Given the description of an element on the screen output the (x, y) to click on. 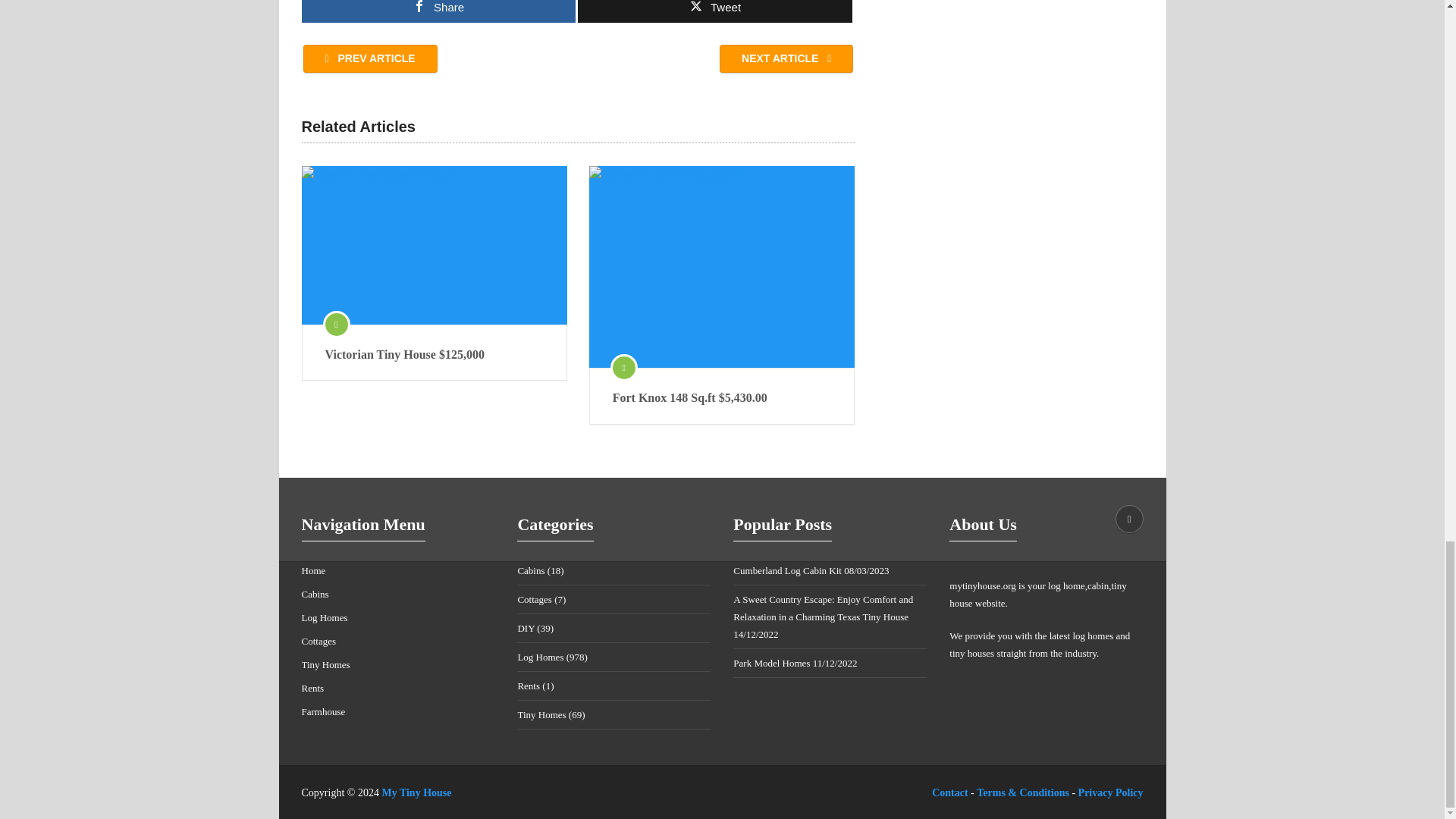
Rents (312, 687)
PREV ARTICLE (370, 58)
NEXT ARTICLE (786, 58)
Tiny Homes (325, 664)
Tweet (714, 11)
Log Homes (324, 617)
Cottages (318, 641)
Share (438, 11)
Farmhouse (323, 711)
Home (313, 570)
